Given the description of an element on the screen output the (x, y) to click on. 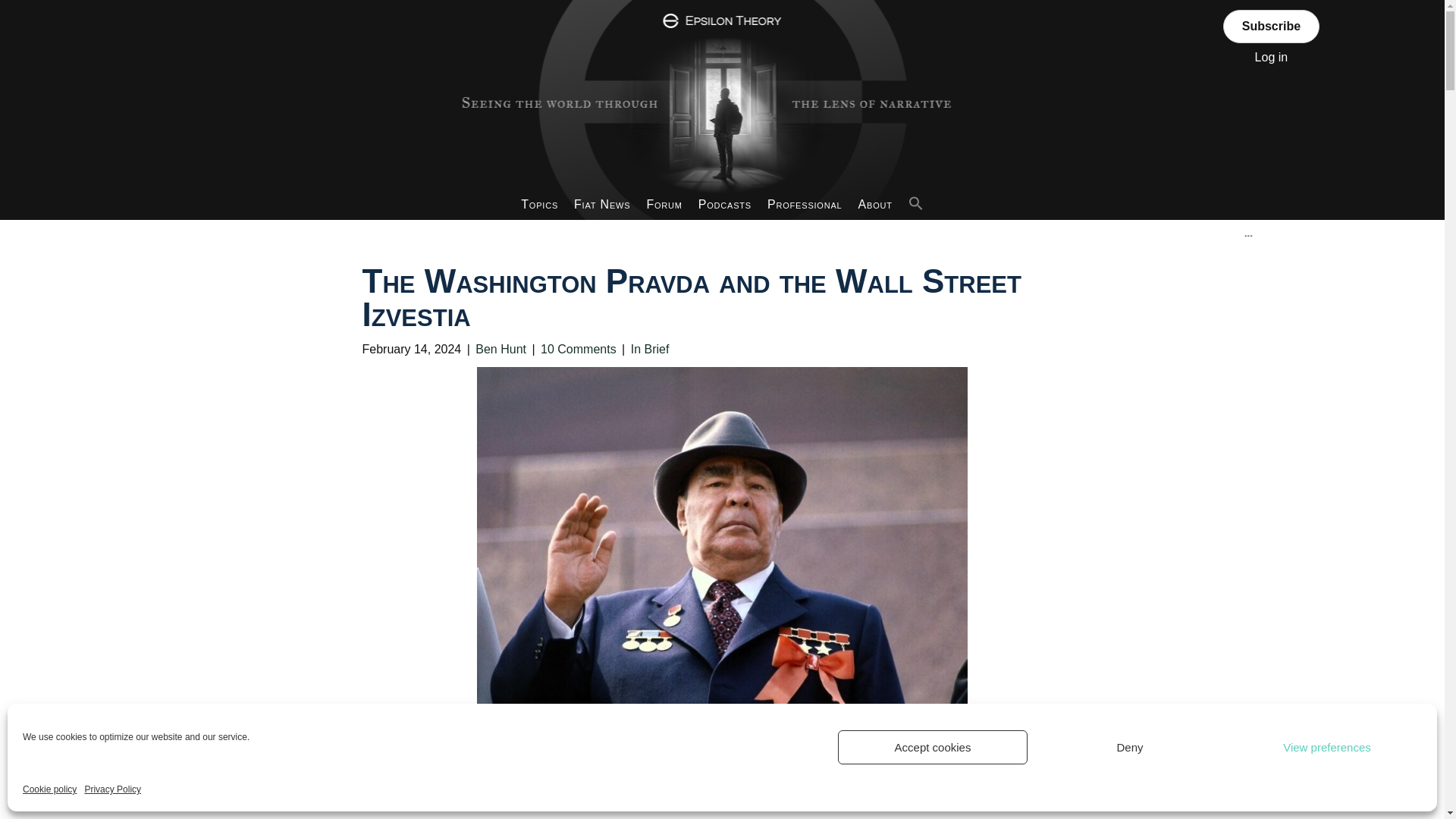
Accept cookies (932, 747)
View preferences (1326, 747)
Deny (1129, 747)
Subscribe (1271, 25)
Topics (539, 204)
Cookie policy (50, 789)
Log in (1271, 56)
Privacy Policy (112, 789)
